Given the description of an element on the screen output the (x, y) to click on. 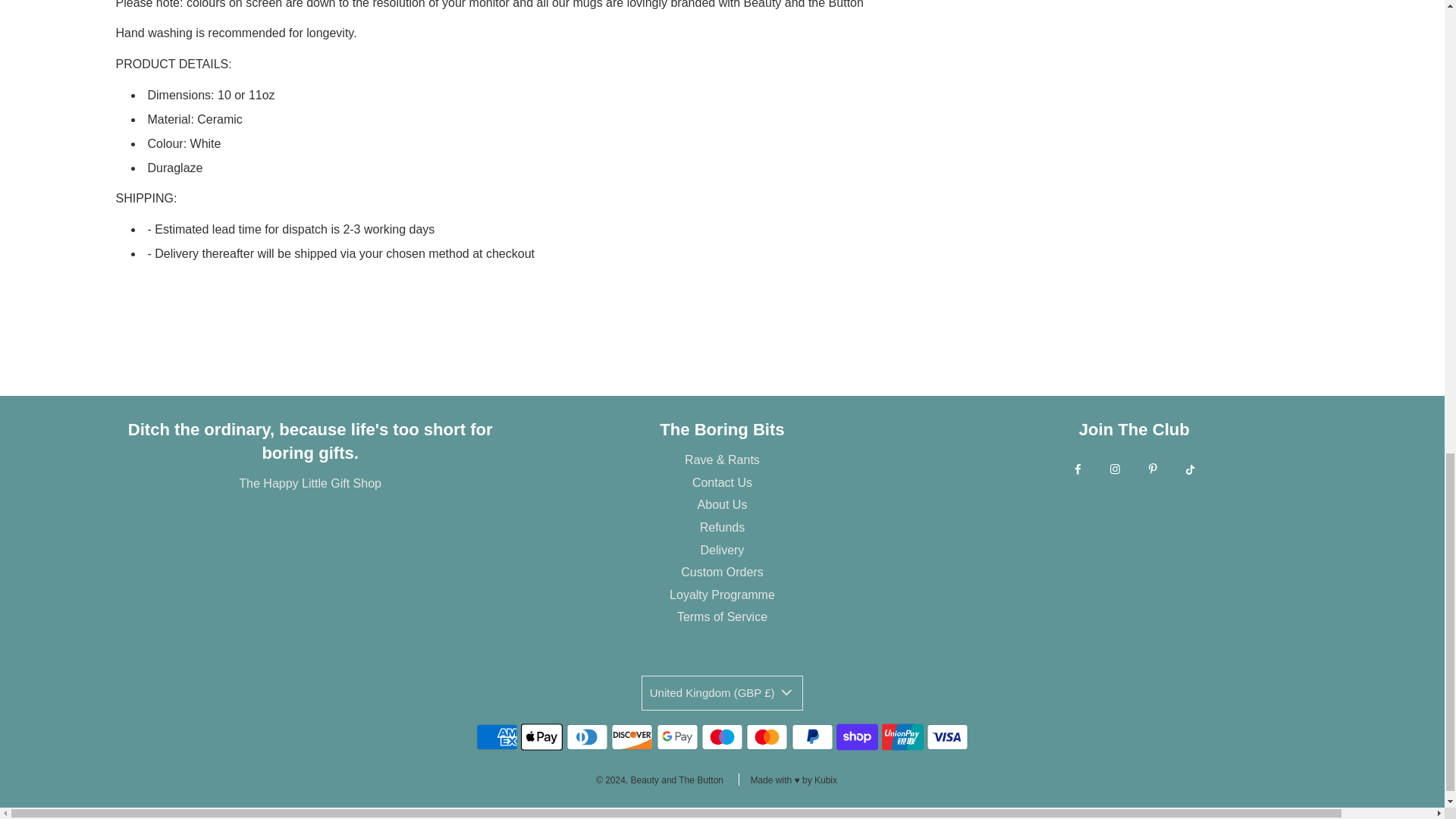
Mastercard (766, 736)
Discover (631, 736)
PayPal (812, 736)
Maestro (721, 736)
American Express (497, 736)
Diners Club (587, 736)
Shop Pay (856, 736)
Apple Pay (541, 736)
Google Pay (677, 736)
